Given the description of an element on the screen output the (x, y) to click on. 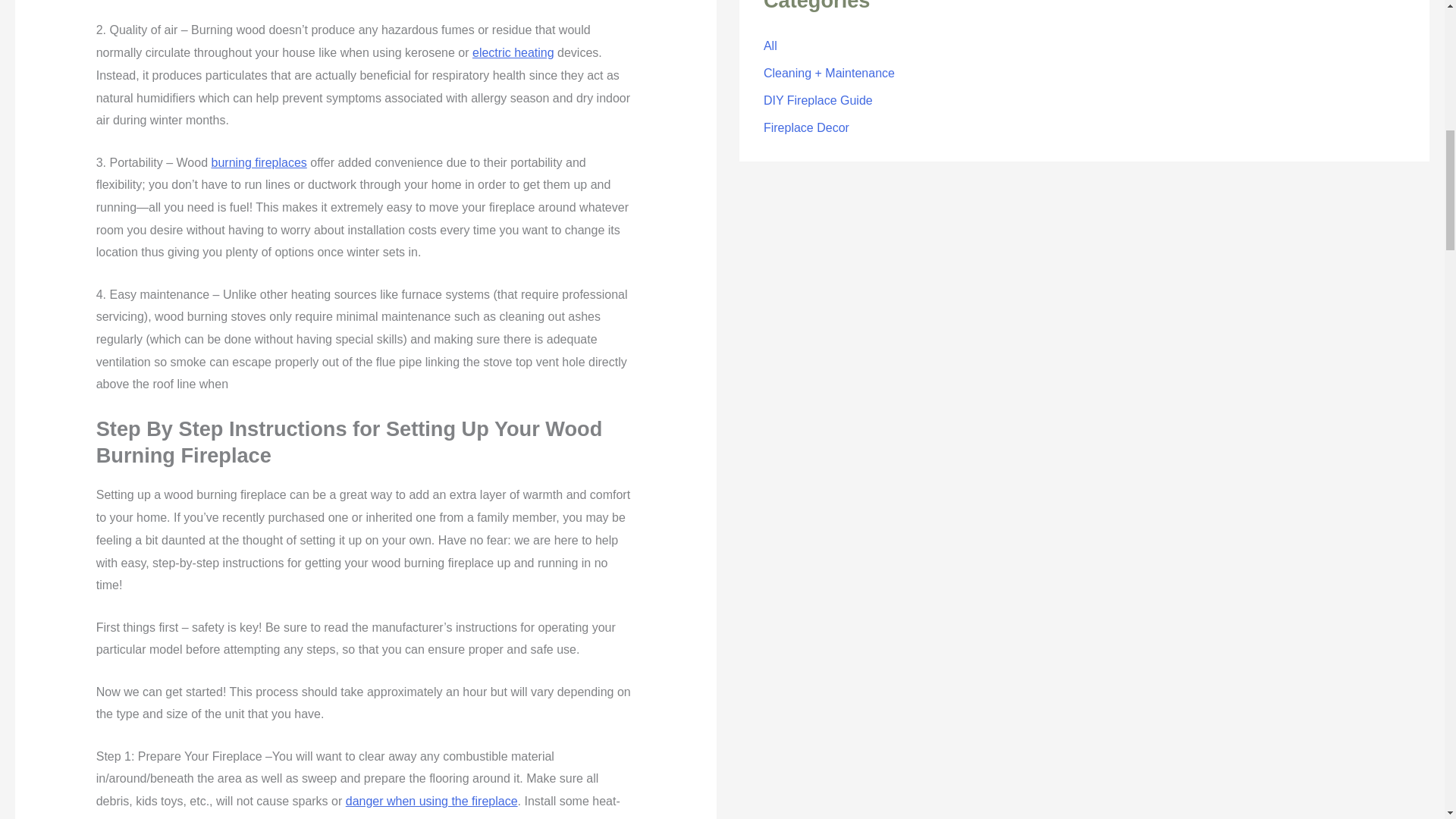
burning fireplaces (258, 162)
electric heating (512, 51)
danger when using the fireplace (432, 800)
